Given the description of an element on the screen output the (x, y) to click on. 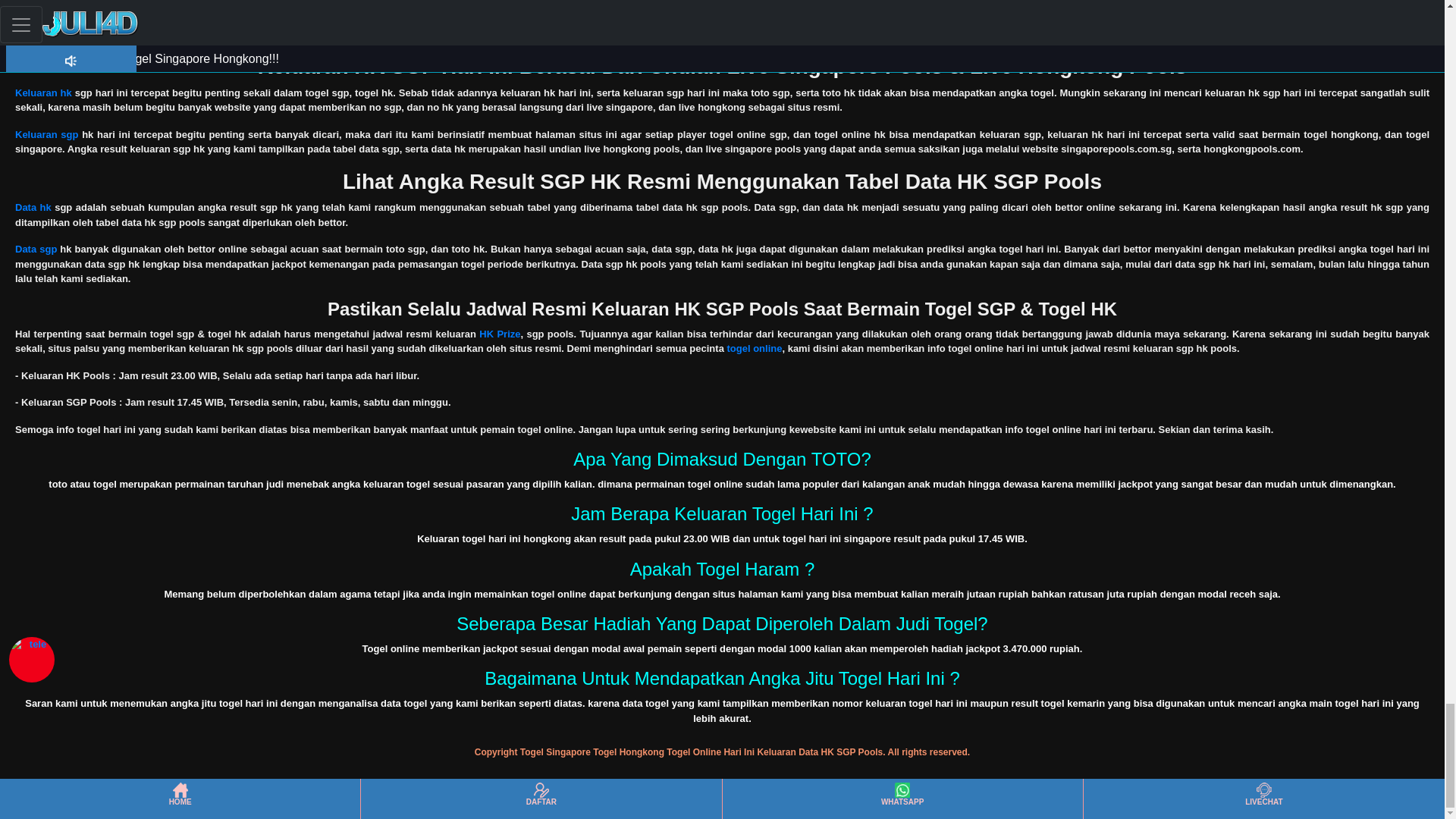
Data sgp (35, 248)
HK Prize (499, 333)
Keluaran hk (42, 92)
Keluaran sgp (46, 134)
Data hk (32, 206)
Togel hari ini (45, 19)
togel online (753, 348)
